Given the description of an element on the screen output the (x, y) to click on. 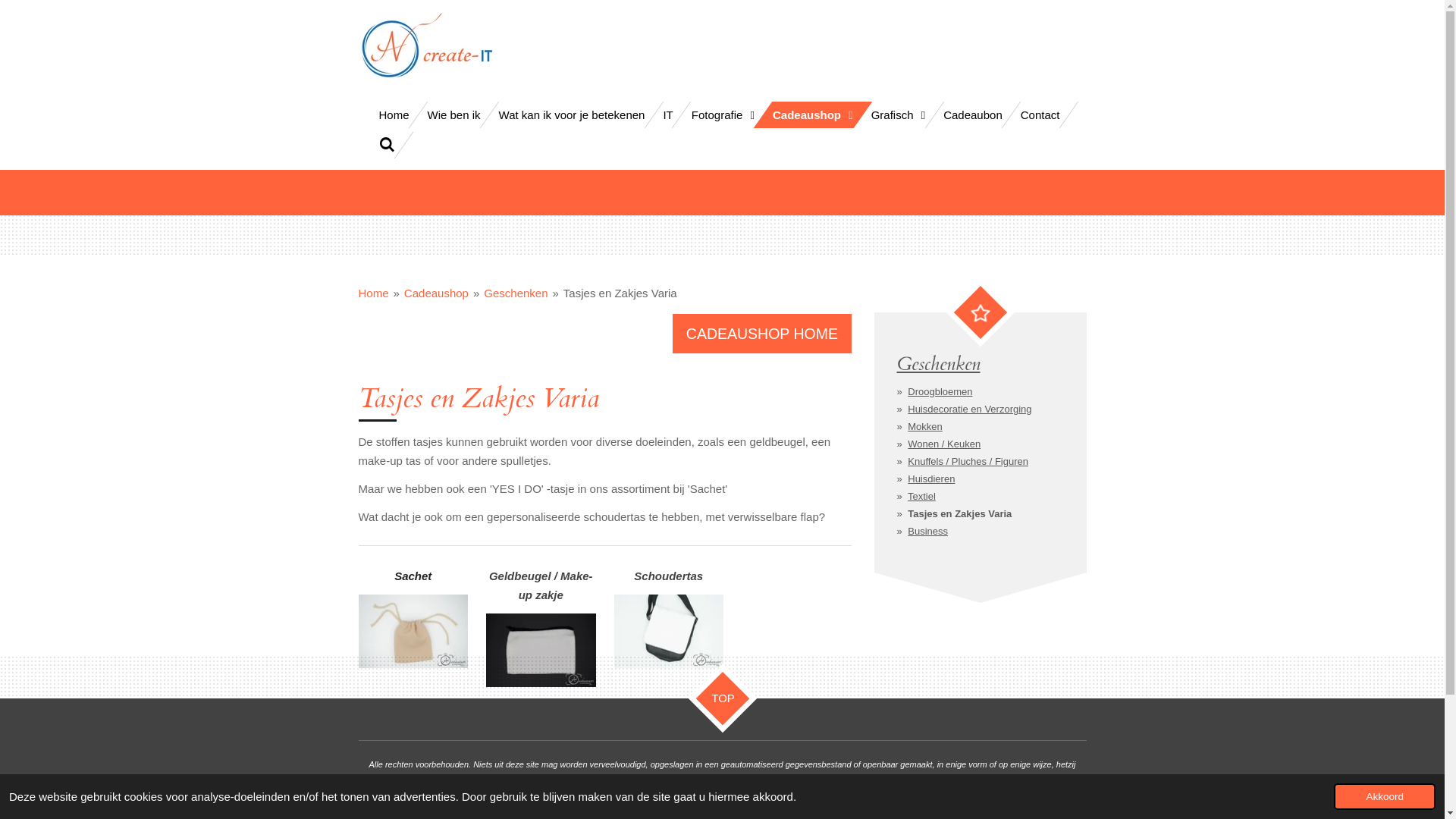
Wie ben ik Element type: text (453, 114)
Zoeken Element type: hover (387, 144)
Huisdecoratie en Verzorging Element type: text (969, 408)
Cadeaushop Element type: text (436, 292)
Huisdieren Element type: text (930, 478)
Knuffels / Pluches / Figuren Element type: text (967, 461)
Geschenken Element type: text (515, 292)
Akkoord Element type: text (1384, 796)
Fotografie Element type: text (722, 114)
Contact Element type: text (1040, 114)
Home Element type: text (394, 114)
AV create-IT / AVanhauwaert Photography & Cadeaushop Element type: hover (426, 44)
Tasjes en Zakjes Varia Element type: text (620, 292)
TOP Element type: text (714, 690)
Business Element type: text (927, 530)
Droogbloemen Element type: text (939, 391)
Cadeaushop Element type: text (812, 114)
Geschenken Element type: text (937, 363)
Wat kan ik voor je betekenen Element type: text (571, 114)
IT Element type: text (667, 114)
Textiel Element type: text (921, 496)
Wonen / Keuken Element type: text (943, 443)
Home Element type: text (372, 292)
CADEAUSHOP HOME Element type: text (761, 333)
Grafisch Element type: text (898, 114)
Mokken Element type: text (924, 426)
Cadeaubon Element type: text (972, 114)
